Given the description of an element on the screen output the (x, y) to click on. 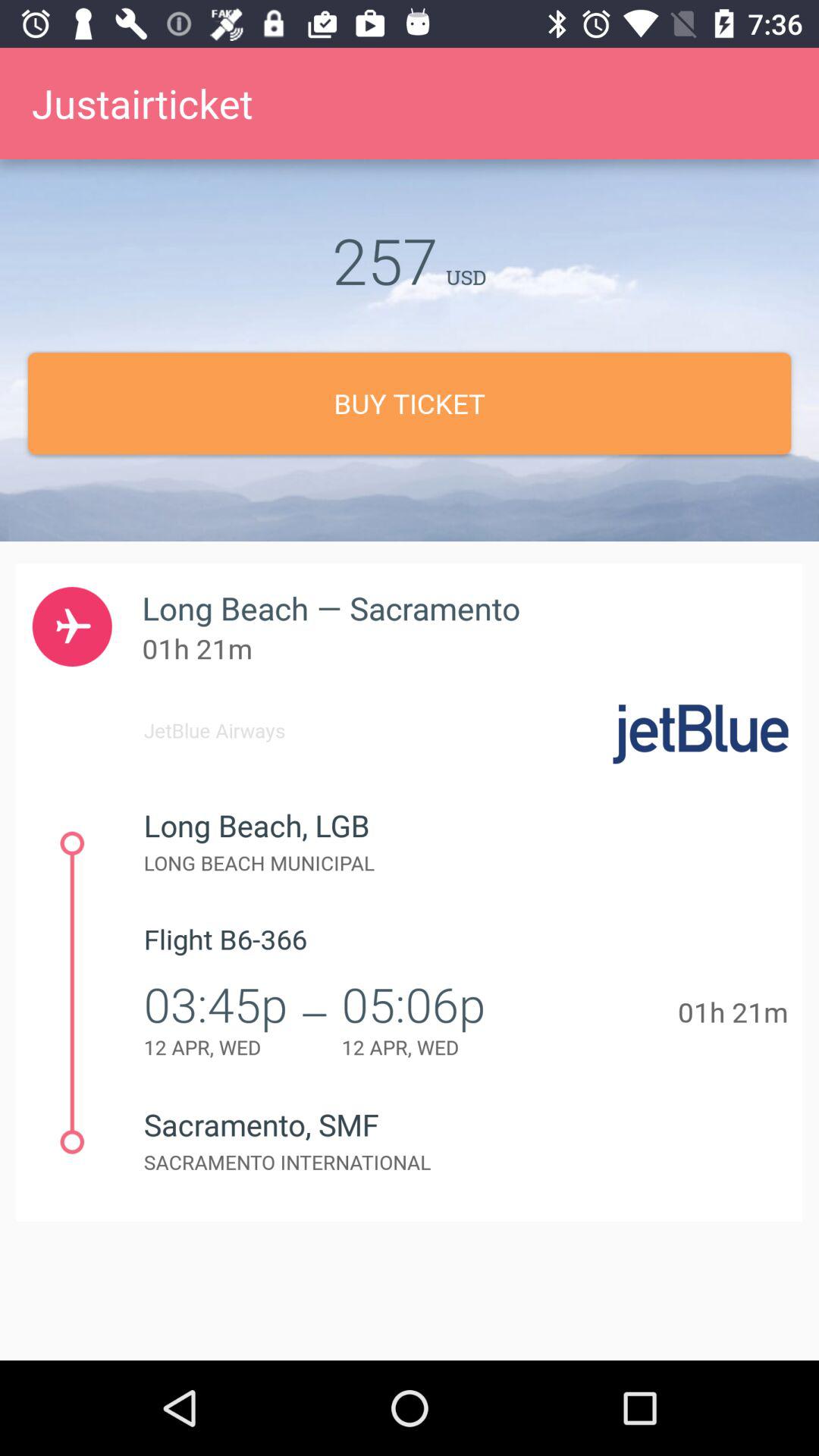
tap item below the 257 (409, 403)
